Given the description of an element on the screen output the (x, y) to click on. 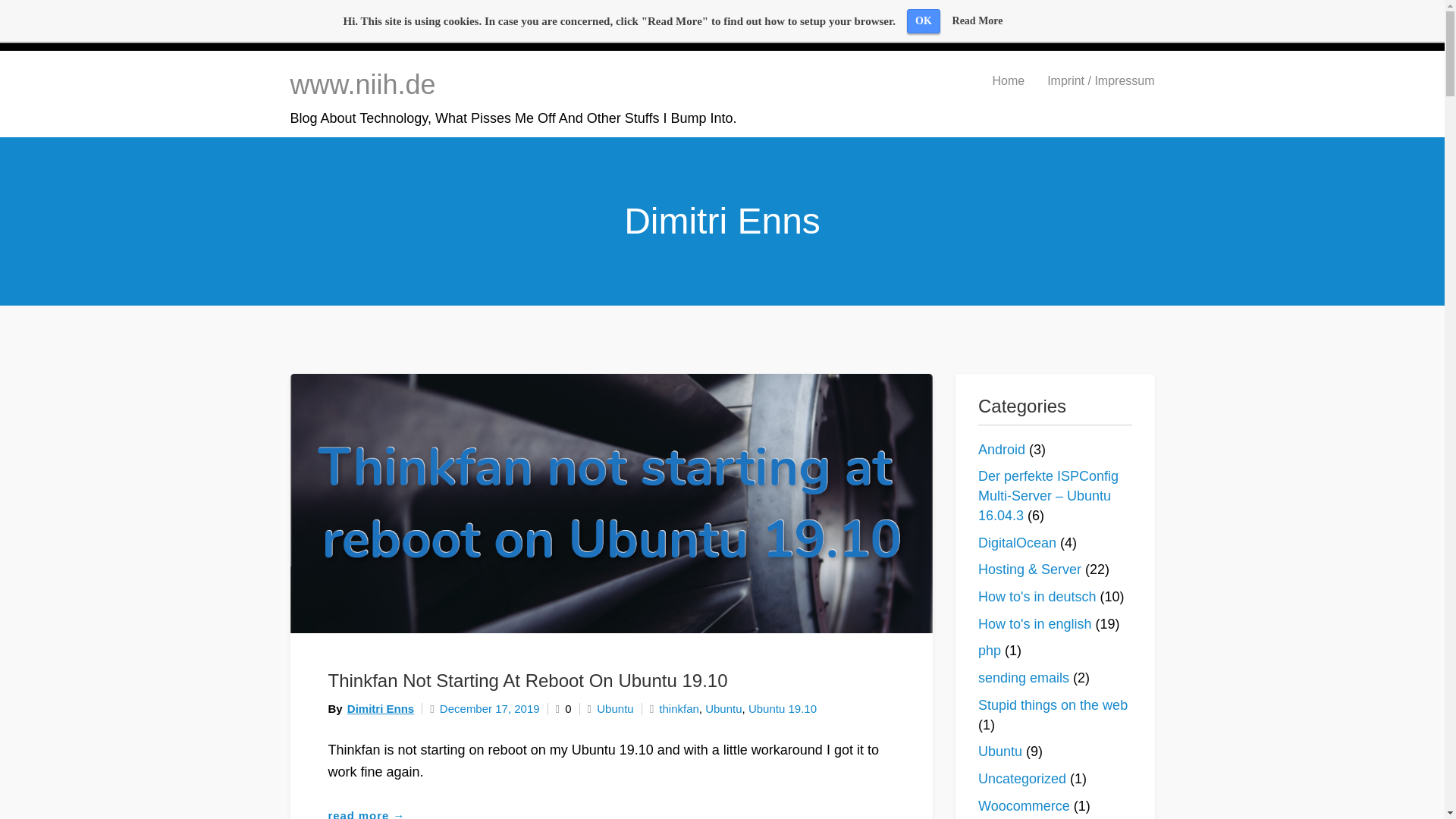
Home (1007, 80)
Ubuntu (614, 707)
Dimitri Enns (380, 707)
Read More (977, 20)
Ubuntu (722, 707)
thinkfan (678, 707)
Thinkfan Not Starting At Reboot On Ubuntu 19.10 (526, 680)
OK (923, 21)
www.niih.de (362, 83)
Ubuntu 19.10 (782, 707)
